Given the description of an element on the screen output the (x, y) to click on. 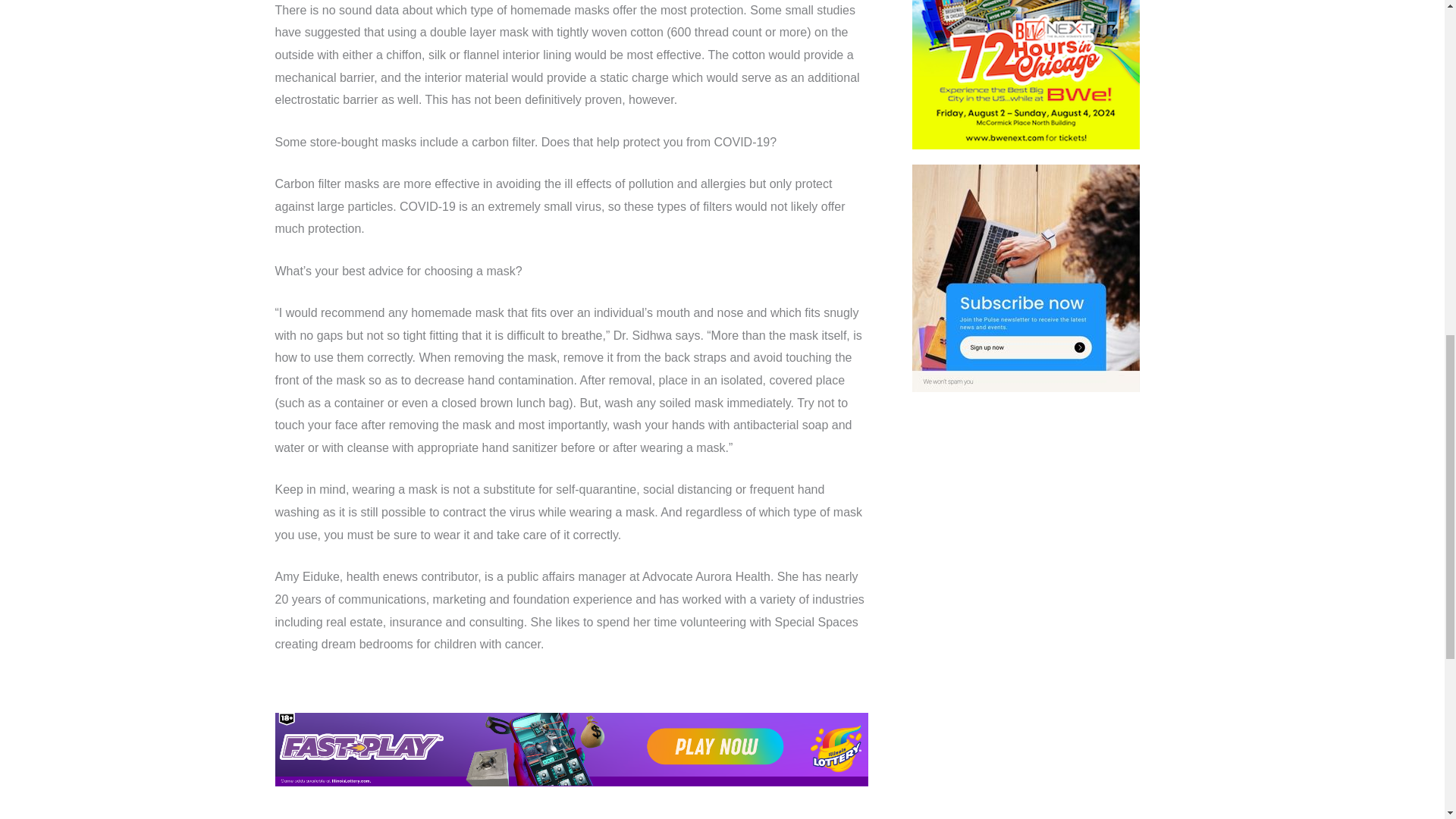
BWE-72 Hours to Chicago-Square-June 2024 (1026, 74)
Fast Play-Lottery-Footer-July 2024 (571, 749)
